Given the description of an element on the screen output the (x, y) to click on. 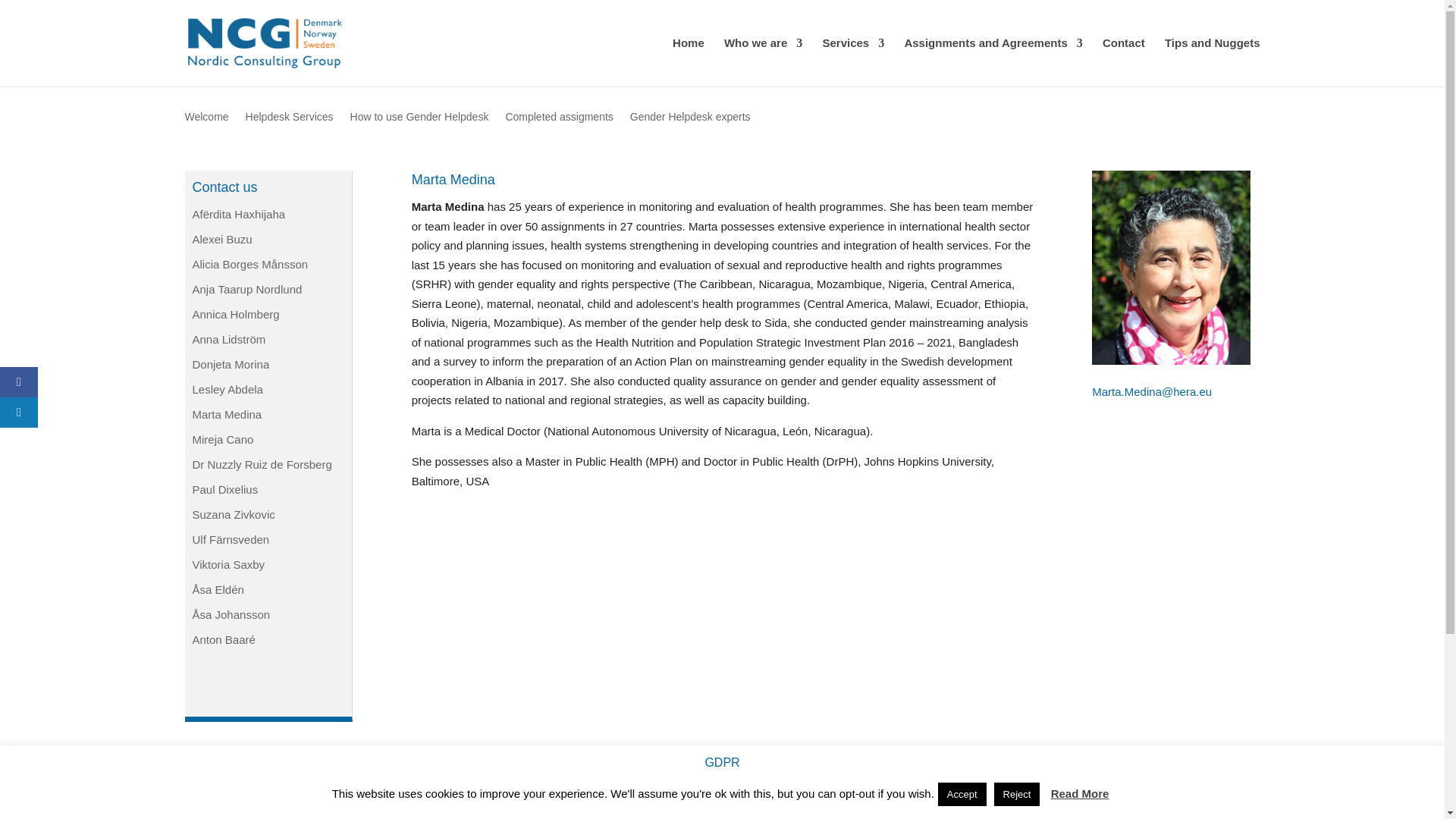
Assignments and Agreements (992, 61)
Who we are (762, 61)
Services (852, 61)
Tips and Nuggets (1212, 61)
